Given the description of an element on the screen output the (x, y) to click on. 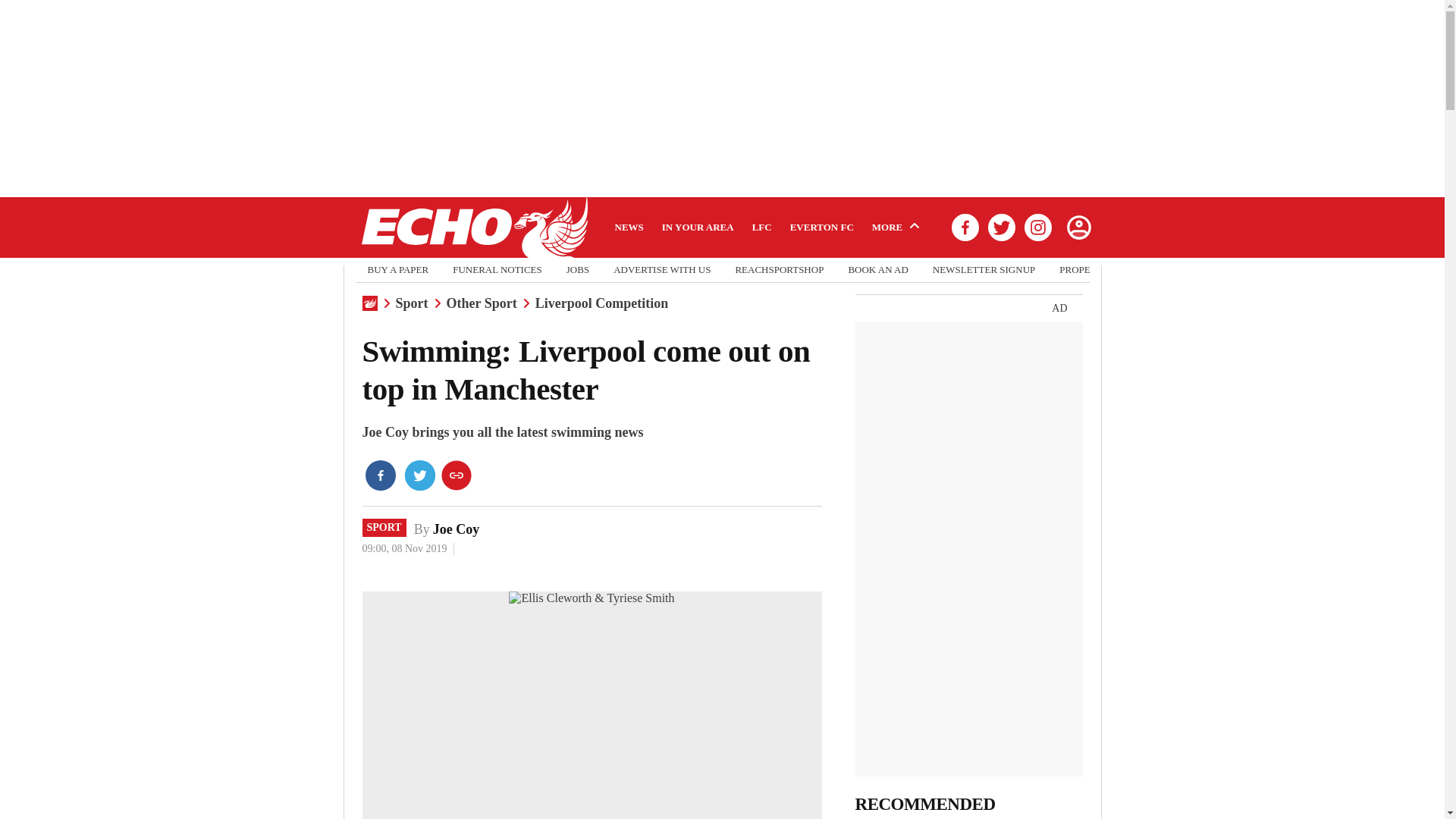
JOBS (577, 270)
EVERTON FC (821, 227)
Sport (412, 303)
NEWSLETTER SIGNUP (984, 270)
Liverpool Competition (601, 303)
BUY A PAPER (397, 270)
avatar (1077, 227)
IN YOUR AREA (697, 227)
SPORT (384, 527)
Other Sport (481, 303)
